Given the description of an element on the screen output the (x, y) to click on. 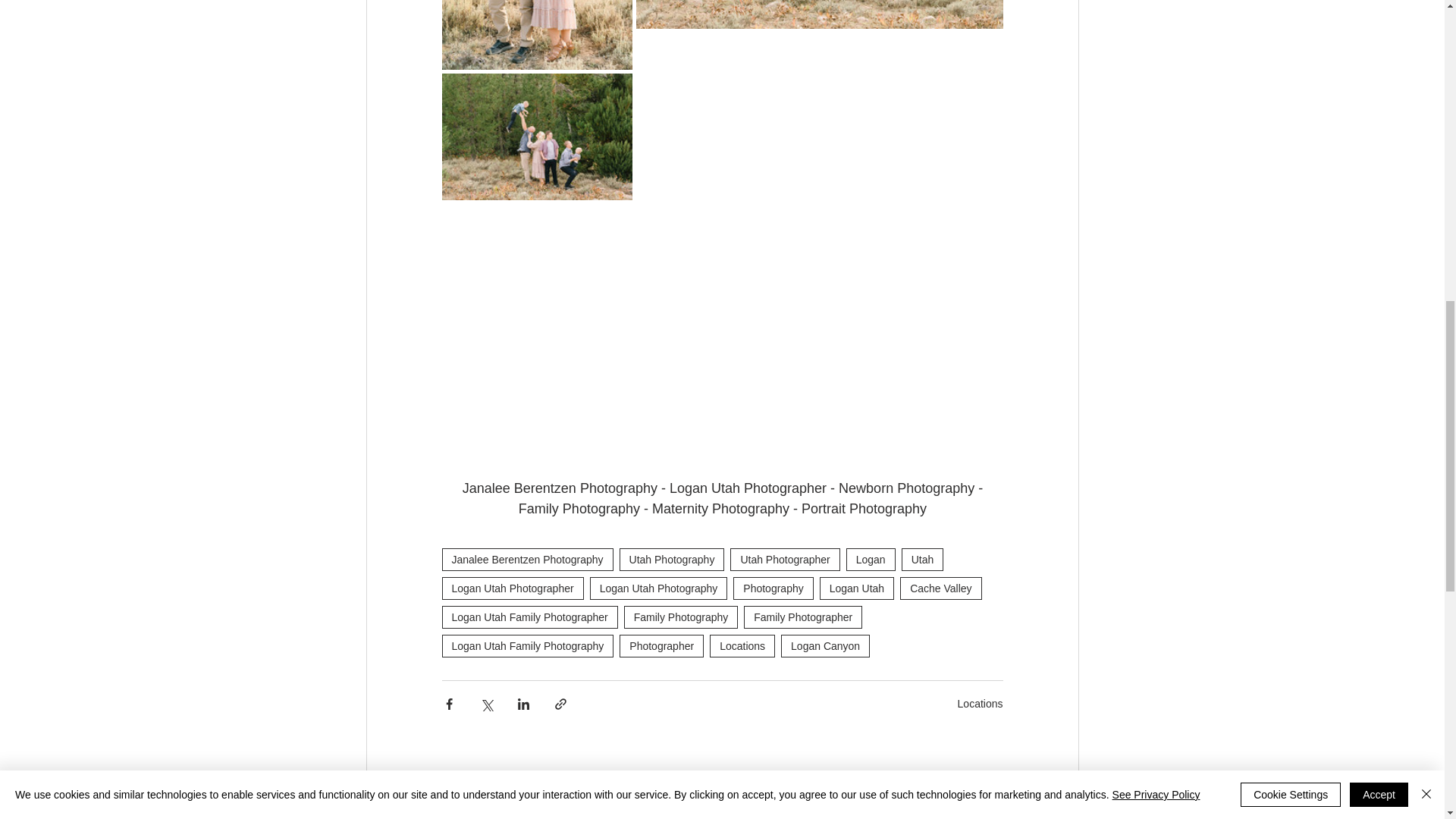
Logan (870, 558)
Utah (922, 558)
Logan Canyon (824, 645)
Locations (742, 645)
Logan Utah Family Photographer (529, 617)
Utah Photographer (785, 558)
Family Photographer (802, 617)
Utah Photography (672, 558)
Cache Valley (940, 588)
Family Photography (681, 617)
Photographer (661, 645)
Photography (772, 588)
Logan Utah (856, 588)
Logan Utah Photographer (512, 588)
Logan Utah Photography (658, 588)
